Given the description of an element on the screen output the (x, y) to click on. 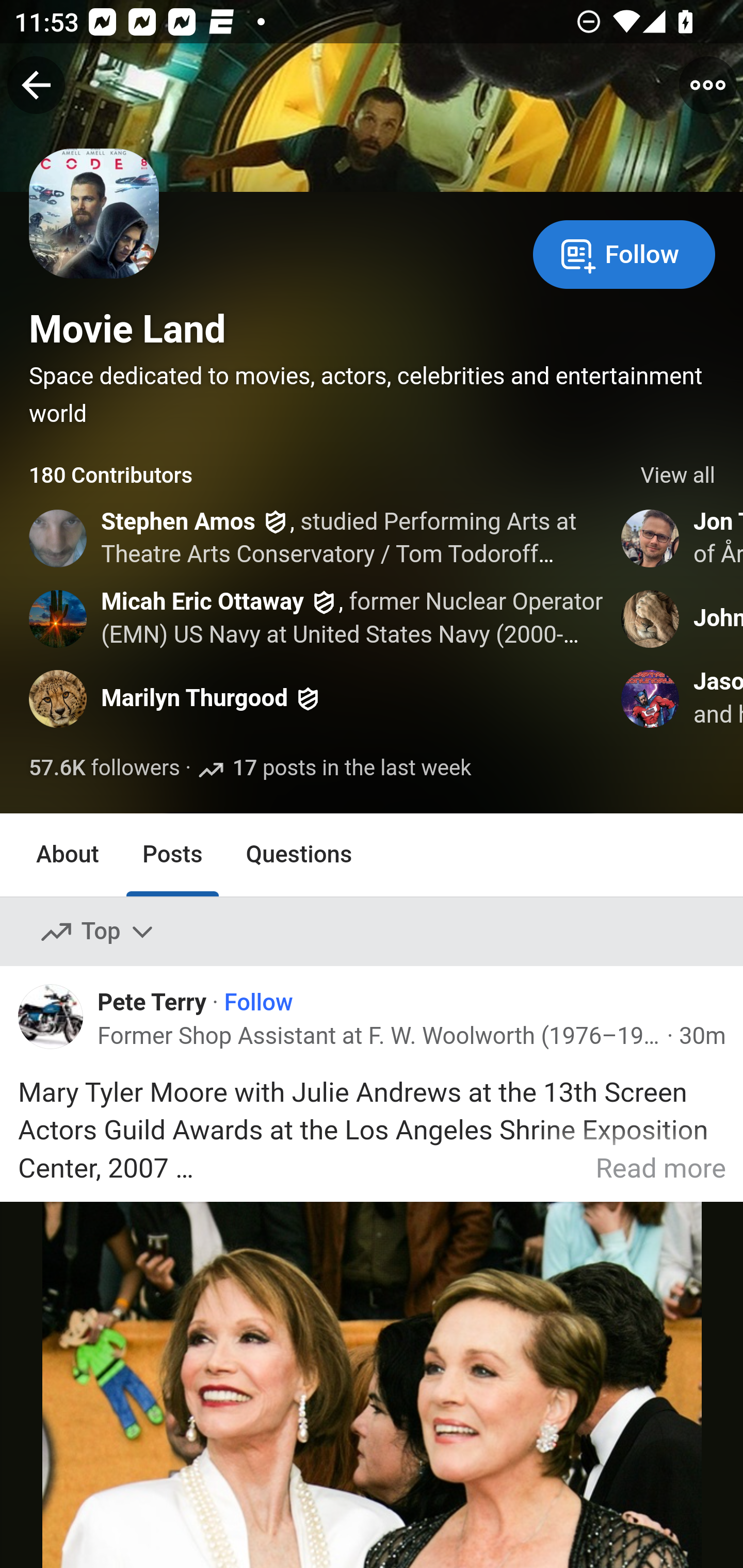
Follow (623, 252)
Movie Land (127, 329)
View all (677, 475)
Stephen Amos (178, 521)
Profile photo for Stephen Amos (58, 538)
Profile photo for Jon Therkildsen (650, 538)
Micah Eric Ottaway (202, 601)
Profile photo for Micah Eric Ottaway (58, 617)
Profile photo for John Wheeler (650, 617)
Profile photo for Marilyn Thurgood (58, 699)
Profile photo for Jason Jimenez (650, 699)
Marilyn Thurgood (195, 699)
57.6K followers (104, 768)
About (68, 854)
Posts (171, 854)
Questions (299, 854)
Top (97, 931)
Profile photo for Pete Terry (50, 1016)
Pete Terry (152, 1001)
Follow (258, 1002)
